Given the description of an element on the screen output the (x, y) to click on. 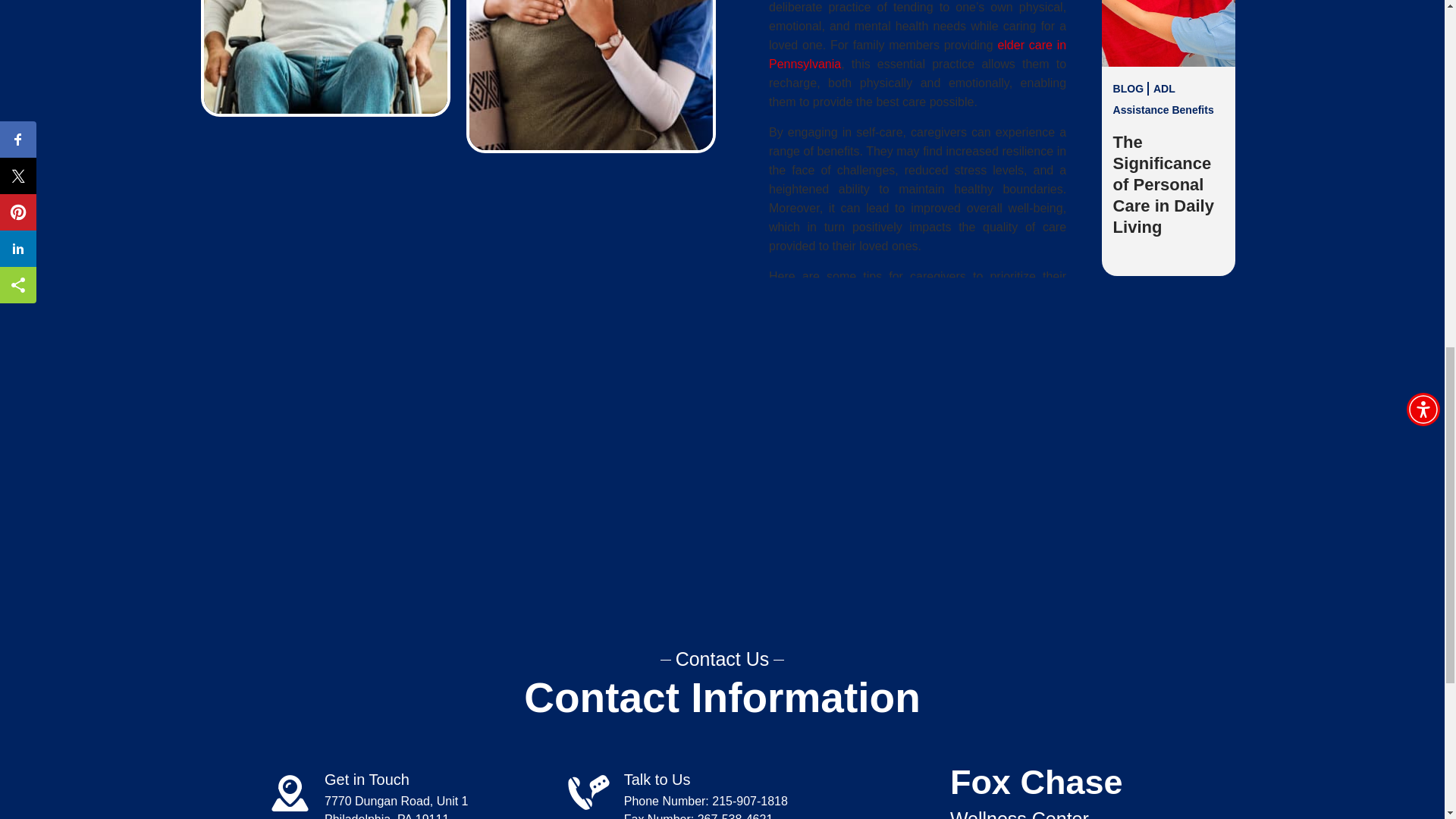
BLOG (1131, 502)
Emotional Balance (1159, 512)
Aromatherapy for Emotional Balance and Stress Relief (1169, 588)
well-being (796, 295)
respite care in Pennsylvania (934, 613)
BLOG (1131, 88)
wellness center in Philadelphia, Pennsylvania (926, 442)
ADL Assistance Benefits (1163, 99)
The Significance of Personal Care in Daily Living (1163, 184)
elder care in Pennsylvania (916, 54)
